Given the description of an element on the screen output the (x, y) to click on. 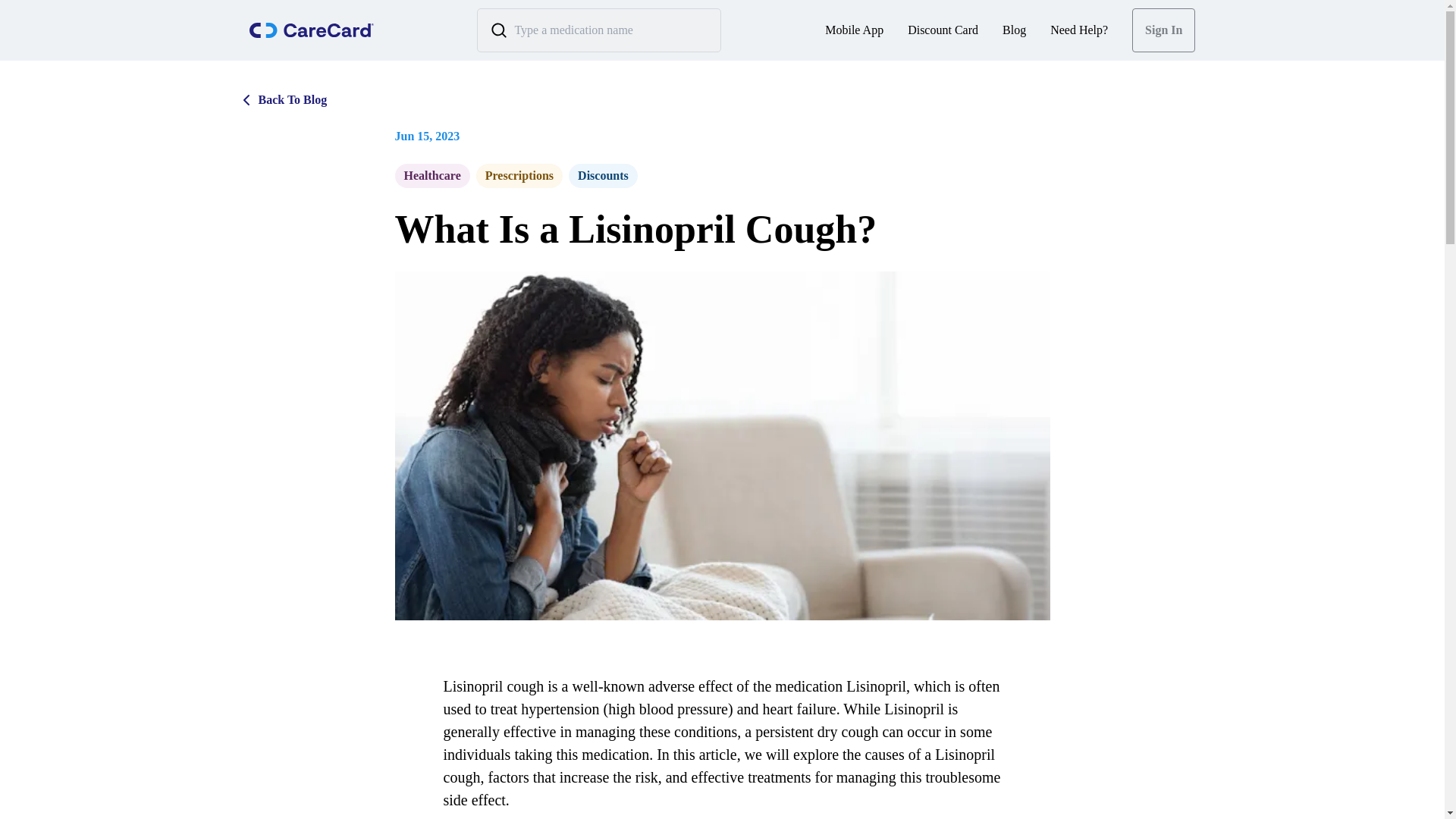
Discount Card (942, 30)
Blog (1014, 30)
Mobile App (854, 30)
Sign In (1163, 30)
Back To Blog (721, 175)
Need Help? (280, 99)
